Given the description of an element on the screen output the (x, y) to click on. 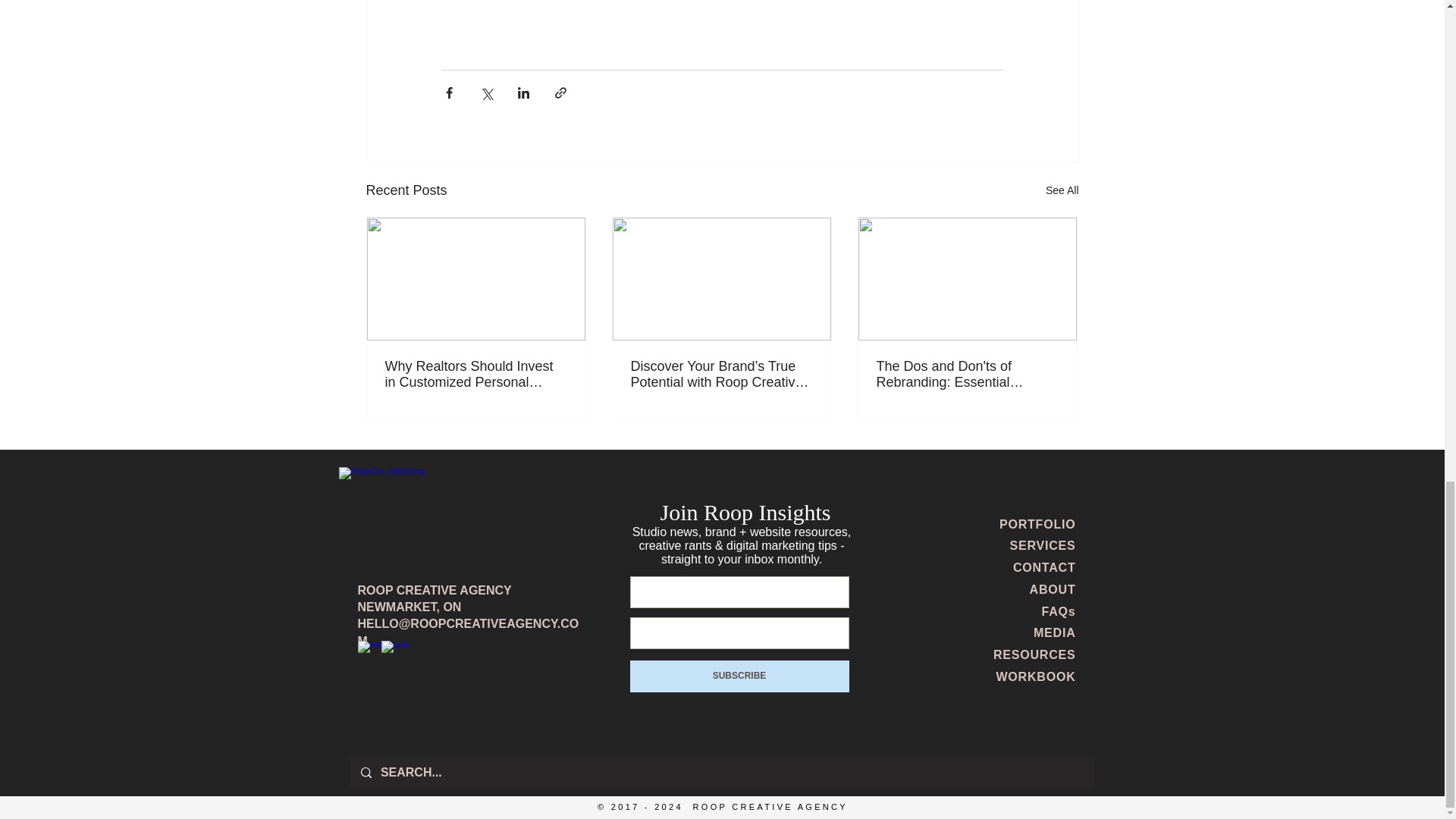
ROOP CREATIVE AGENCY (435, 590)
See All (1061, 189)
SUBSCRIBE (738, 675)
